Given the description of an element on the screen output the (x, y) to click on. 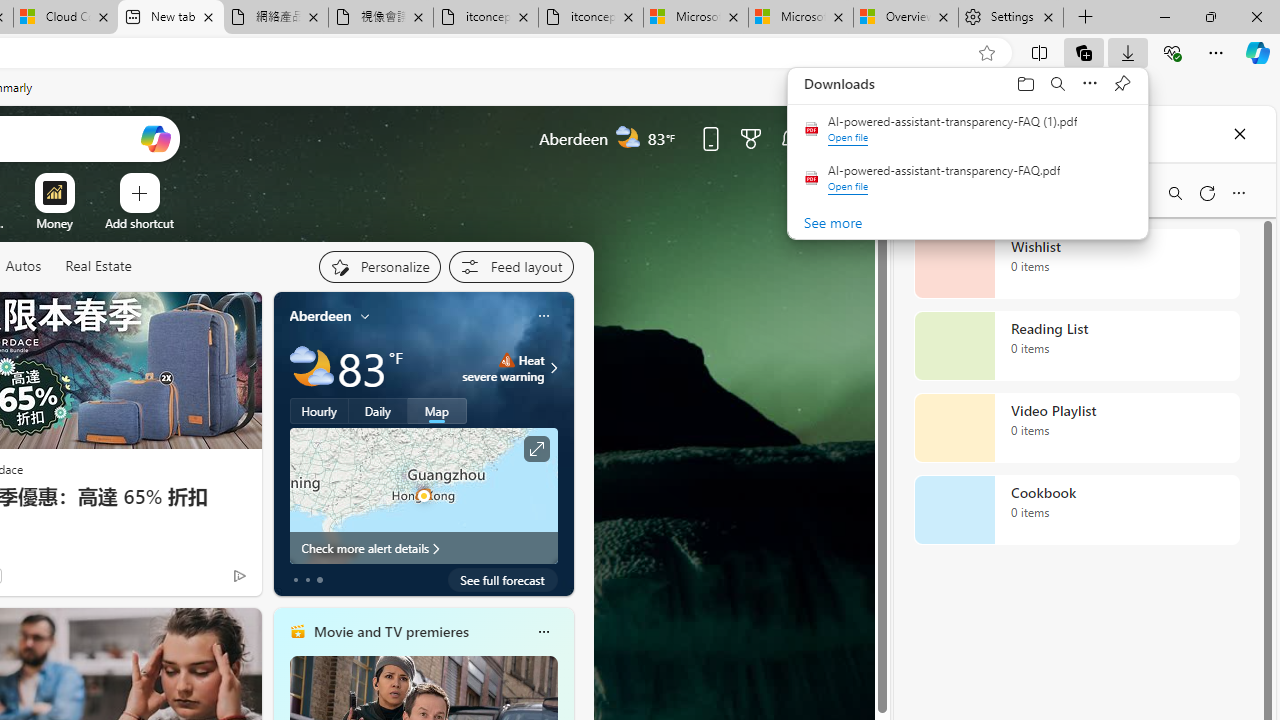
Downloads (1074, 83)
Daily (378, 411)
Overview (905, 17)
Hourly (319, 411)
Map (437, 411)
Video Playlist collection, 0 items (1076, 427)
Larger map  (423, 495)
Search downloads (1058, 83)
Add a site (139, 223)
Heat - Severe Heat severe warning (503, 367)
